Given the description of an element on the screen output the (x, y) to click on. 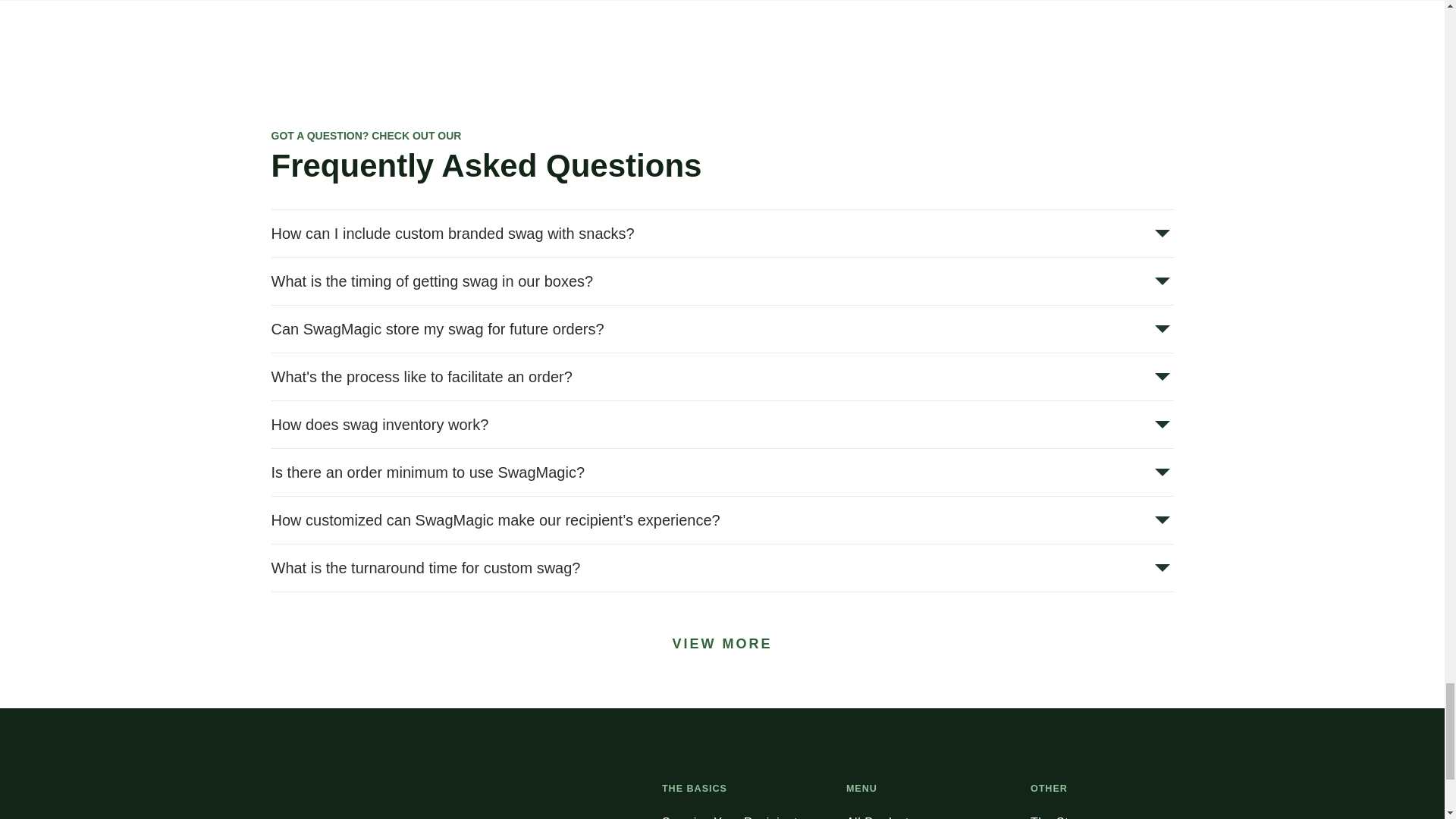
Is there an order minimum to use SwagMagic? (721, 472)
How does swag inventory work? (721, 424)
How can I include custom branded swag with snacks? (721, 233)
What's the process like to facilitate an order? (721, 376)
What is the turnaround time for custom swag? (721, 567)
Can SwagMagic store my swag for future orders? (721, 329)
What is the timing of getting swag in our boxes? (721, 280)
